Given the description of an element on the screen output the (x, y) to click on. 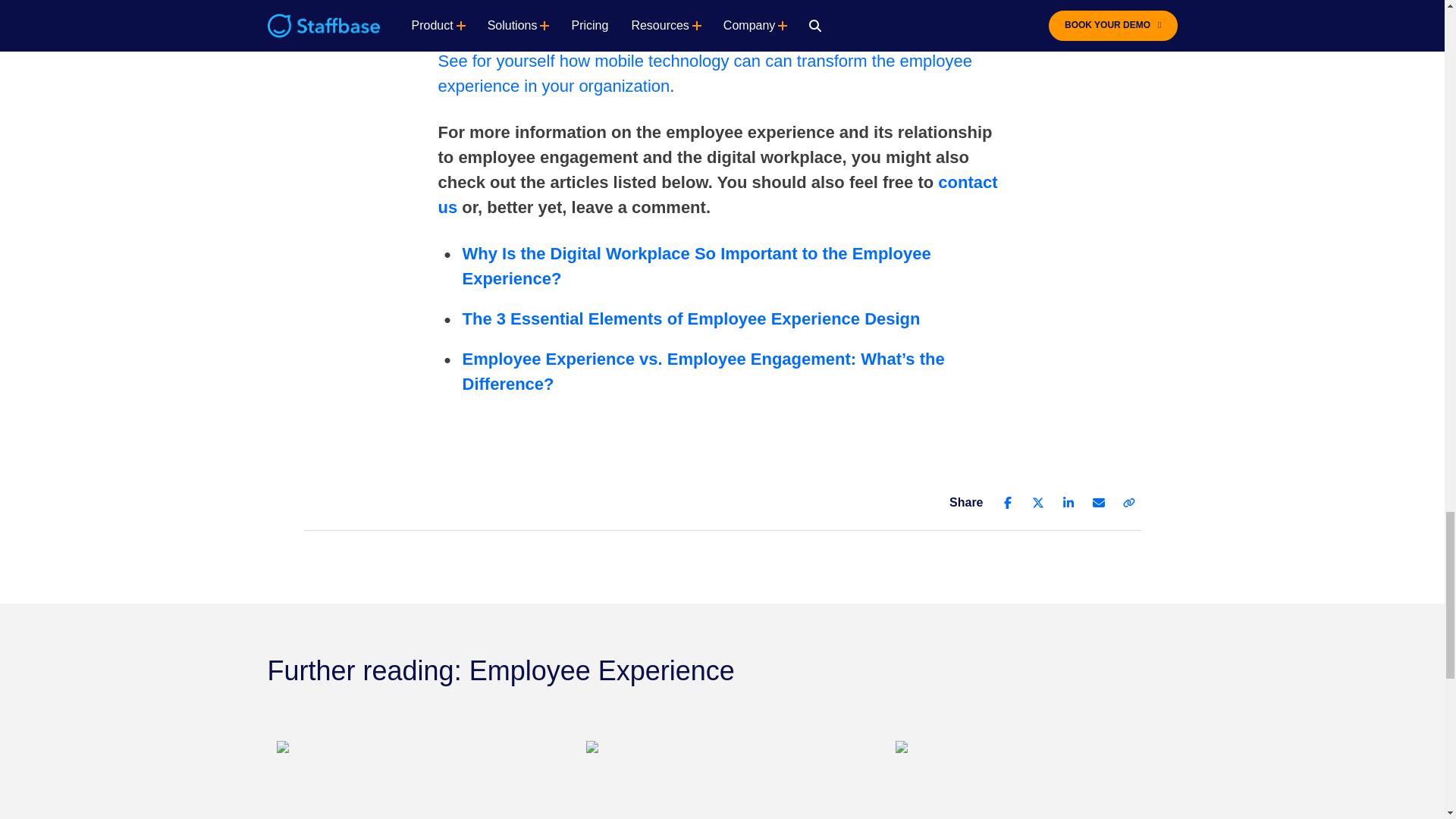
Email (1097, 502)
Facebook (1006, 502)
Twitter (1037, 502)
LinkedIn (1067, 502)
